Given the description of an element on the screen output the (x, y) to click on. 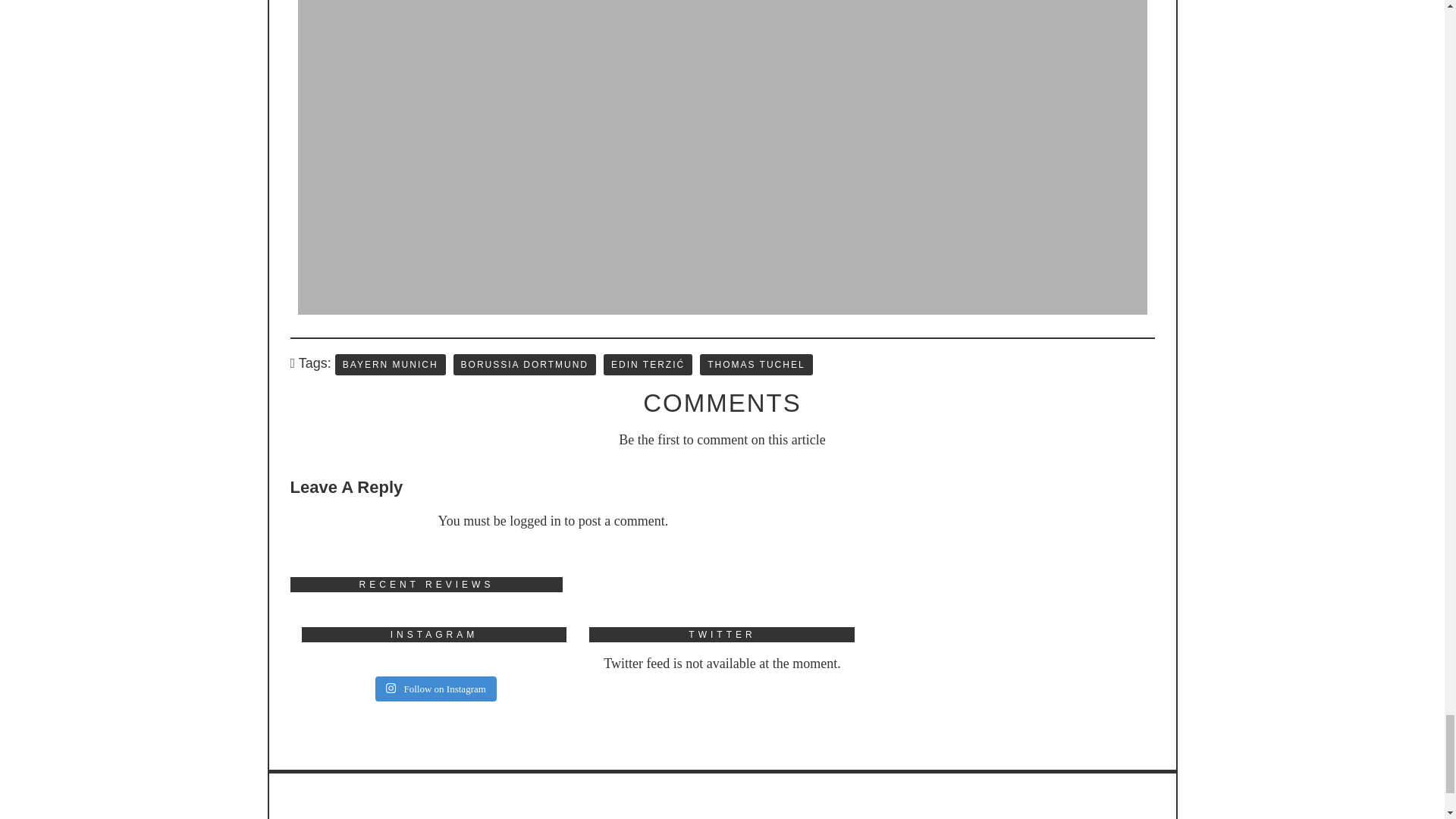
Follow on Instagram (435, 688)
BORUSSIA DORTMUND (523, 364)
logged in (534, 520)
BAYERN MUNICH (389, 364)
THOMAS TUCHEL (756, 364)
